Given the description of an element on the screen output the (x, y) to click on. 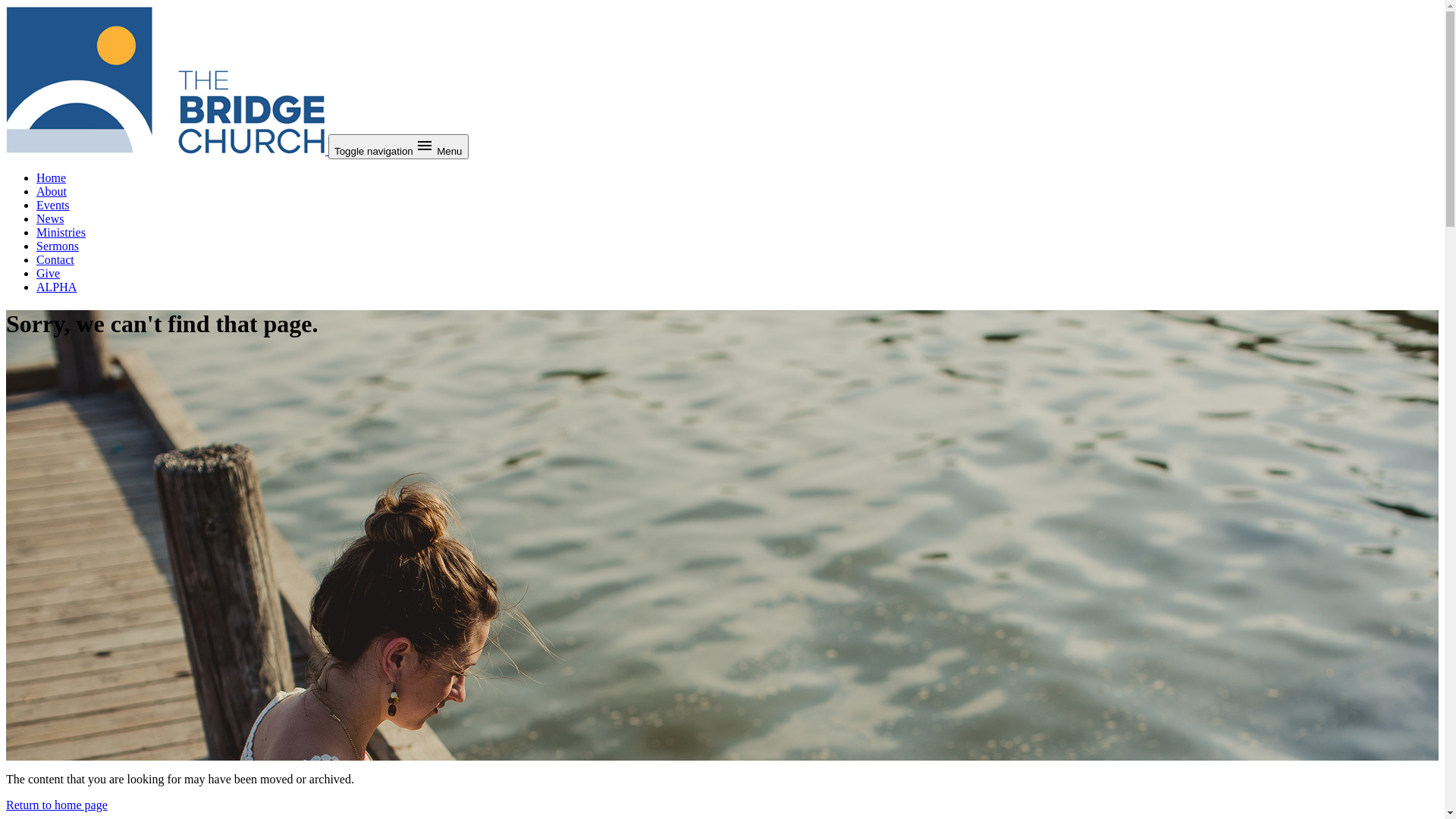
Toggle navigation Menu Element type: text (398, 146)
ALPHA Element type: text (56, 286)
Events Element type: text (52, 204)
Sermons Element type: text (57, 245)
Return to home page Element type: text (56, 804)
Contact Element type: text (55, 259)
Ministries Element type: text (60, 231)
News Element type: text (49, 218)
Give Element type: text (47, 272)
Home Element type: text (50, 177)
About Element type: text (51, 191)
